Given the description of an element on the screen output the (x, y) to click on. 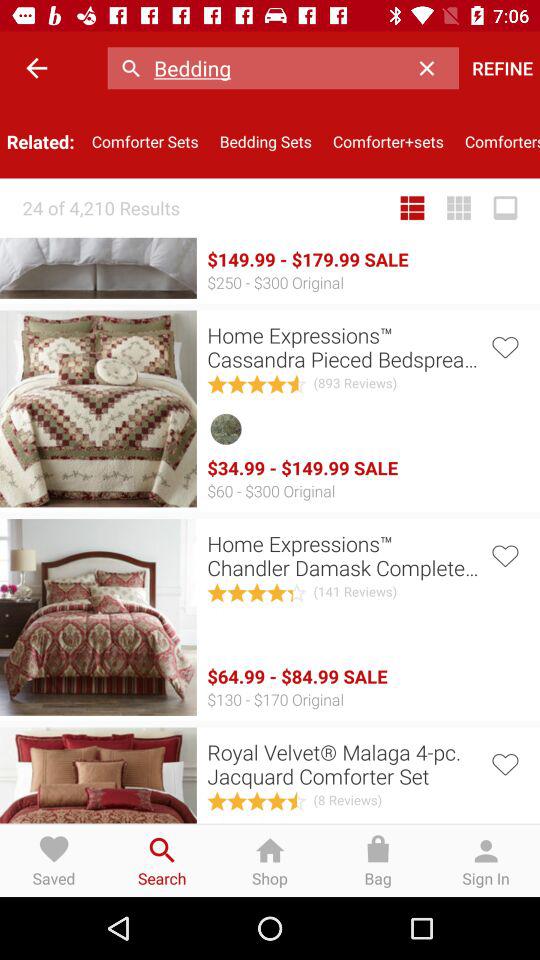
add to saved (504, 345)
